Given the description of an element on the screen output the (x, y) to click on. 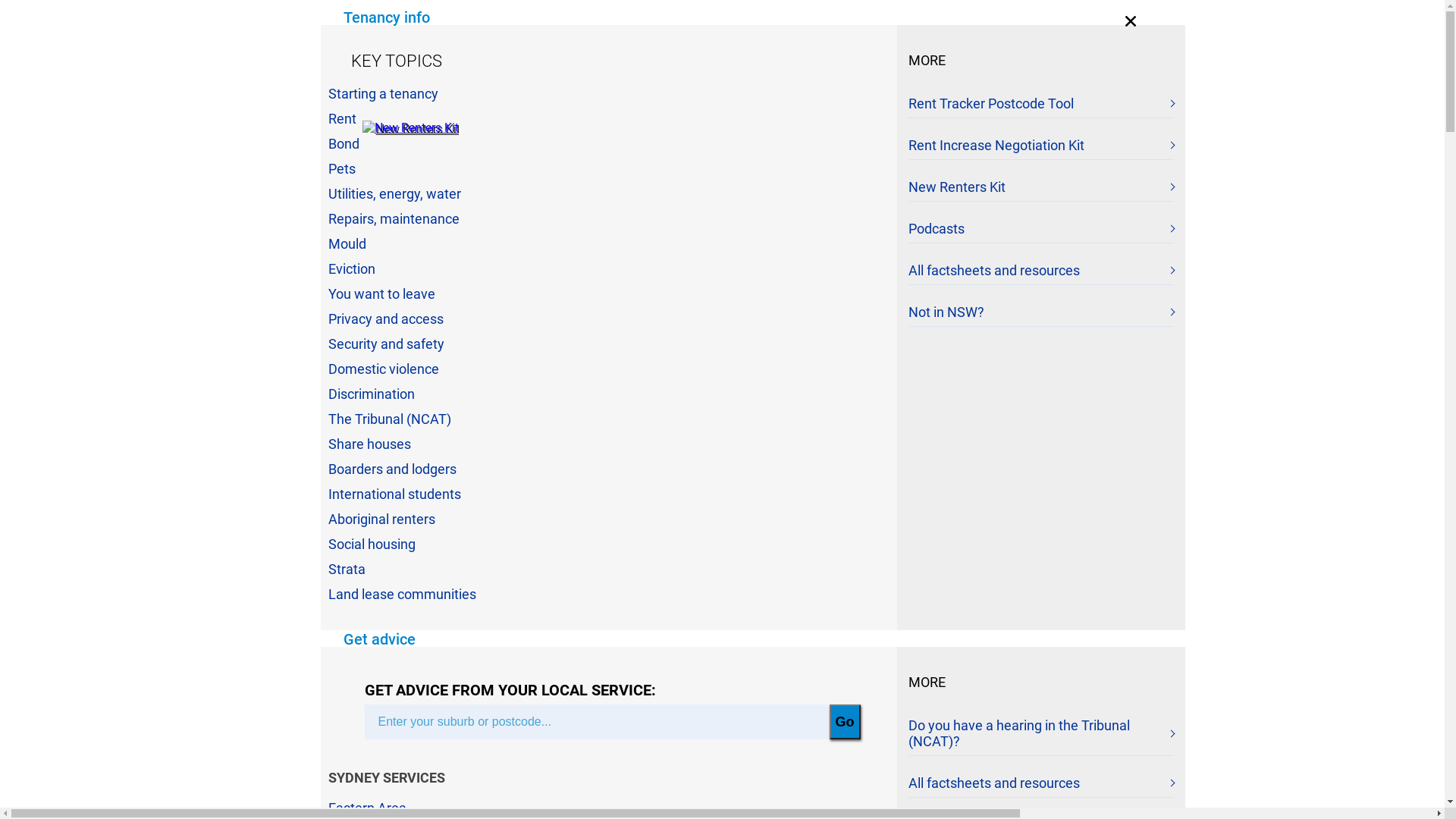
Utilities, energy, water Element type: text (393, 193)
Strata Element type: text (345, 569)
Aboriginal renters Element type: text (380, 519)
Privacy and access Element type: text (384, 318)
Starting a tenancy Element type: text (382, 93)
Bond Element type: text (342, 143)
Rent Element type: text (341, 118)
Pets Element type: text (340, 168)
International students Element type: text (393, 494)
Social housing Element type: text (370, 544)
Go Element type: text (844, 721)
Eastern Area Element type: text (366, 807)
Podcasts Element type: text (1040, 231)
All factsheets and resources Element type: text (1040, 273)
Eviction Element type: text (350, 268)
Share houses Element type: text (368, 443)
Skip to main content Element type: text (0, 0)
You want to leave Element type: text (380, 293)
Not in NSW? Element type: text (1040, 315)
Domestic violence Element type: text (382, 368)
Land lease communities Element type: text (401, 594)
Get advice Element type: text (378, 640)
Security and safety Element type: text (385, 343)
New Renters Kit Element type: text (1040, 189)
Rent Increase Negotiation Kit Element type: text (1040, 148)
The Tribunal (NCAT) Element type: text (388, 418)
Do you have a hearing in the Tribunal (NCAT)? Element type: text (1040, 736)
Mould Element type: text (346, 243)
Discrimination Element type: text (370, 393)
Boarders and lodgers Element type: text (391, 468)
All factsheets and resources Element type: text (1040, 786)
Repairs, maintenance Element type: text (392, 218)
Rent Tracker Postcode Tool Element type: text (1040, 106)
